Given the description of an element on the screen output the (x, y) to click on. 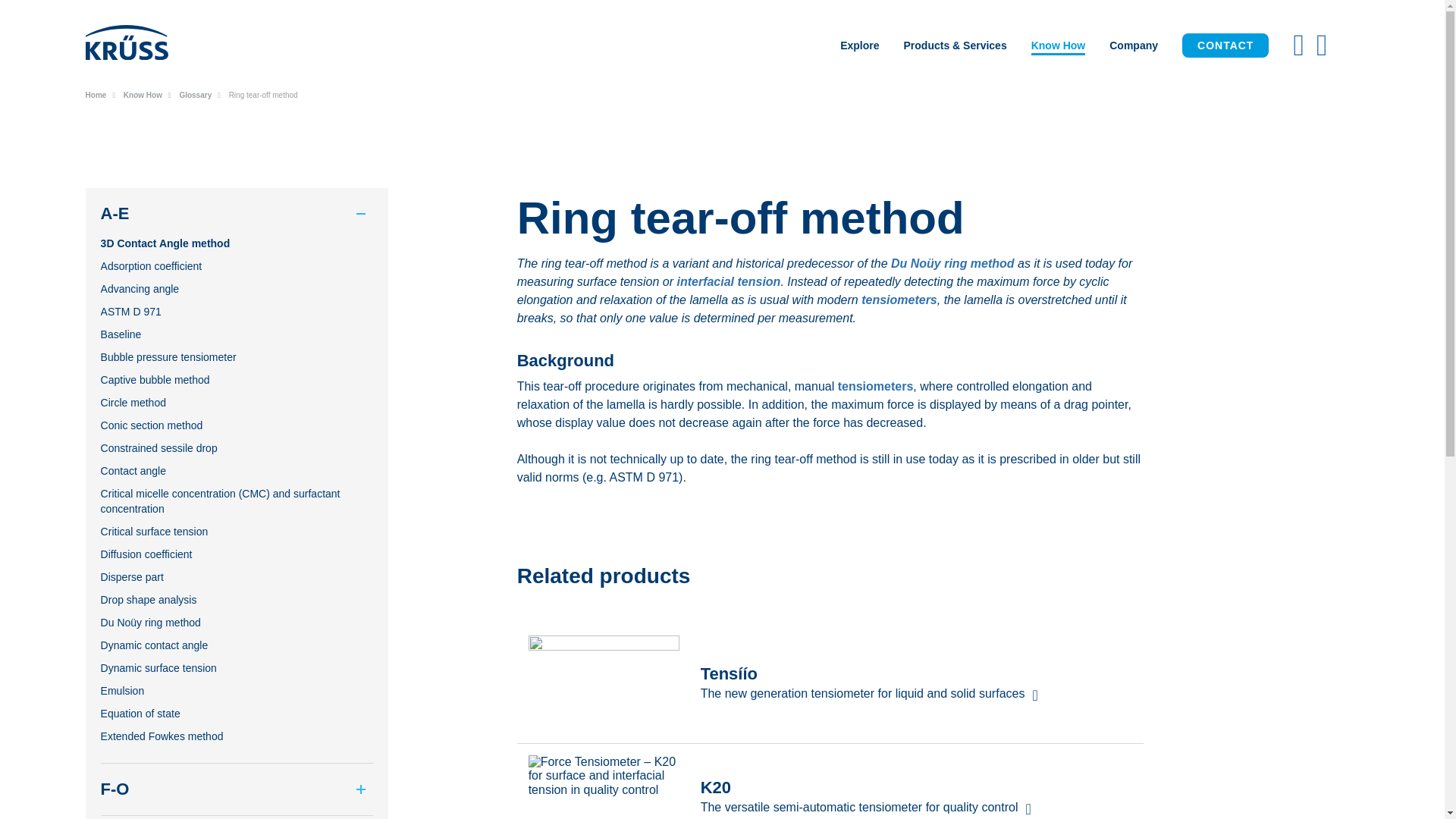
Glossary (195, 94)
Explore (859, 45)
Know How (1058, 45)
Ring tear-off method (263, 94)
Company (1133, 45)
CONTACT (1225, 45)
Home (95, 94)
Know How (142, 94)
